Given the description of an element on the screen output the (x, y) to click on. 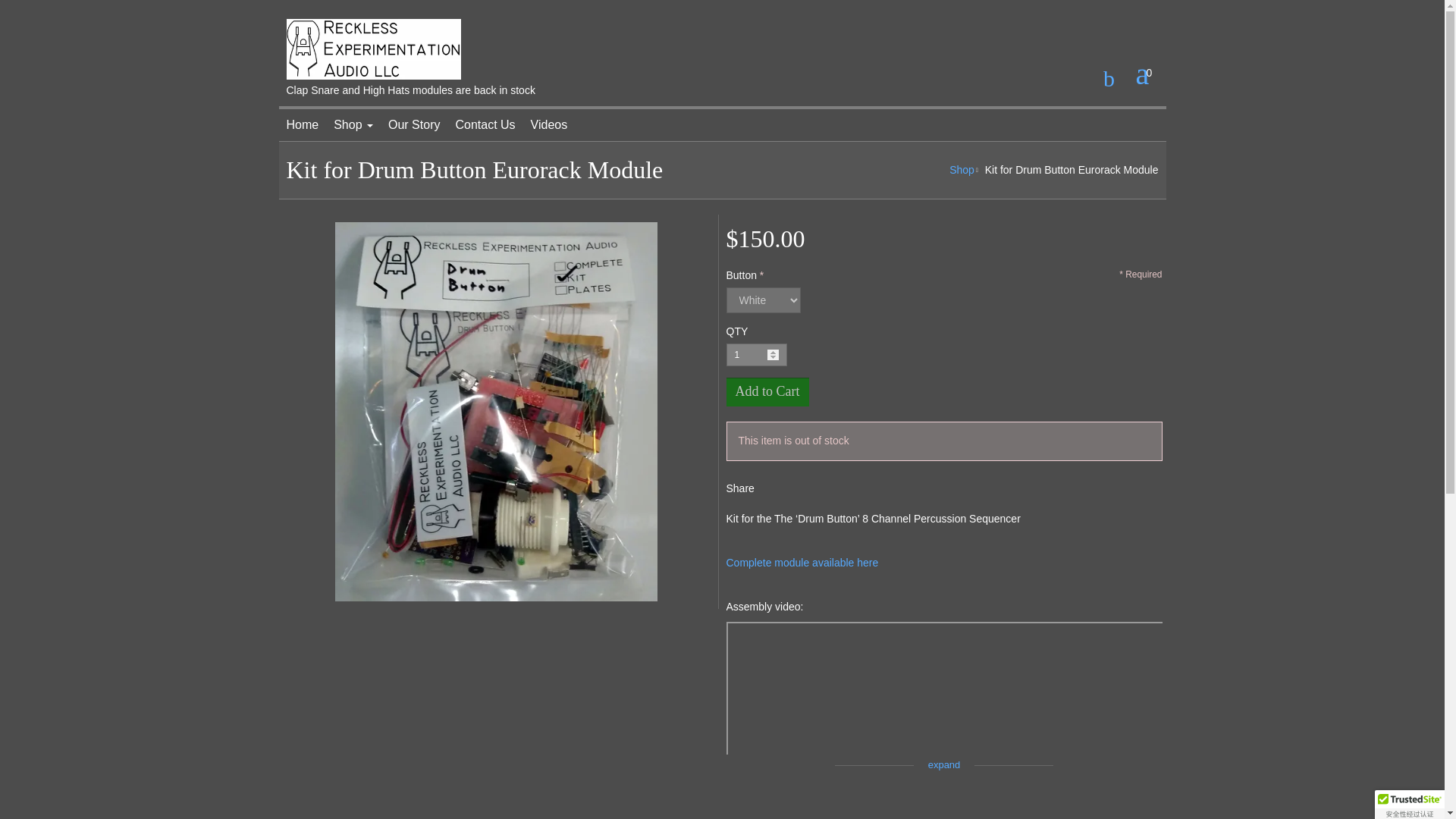
1 (756, 354)
Home (302, 124)
Contact Us (484, 124)
Add to Cart (767, 391)
0 (1150, 71)
Complete module available here (802, 562)
Our Story (413, 124)
Add to Cart (767, 391)
Videos (548, 124)
Shop (353, 124)
